Given the description of an element on the screen output the (x, y) to click on. 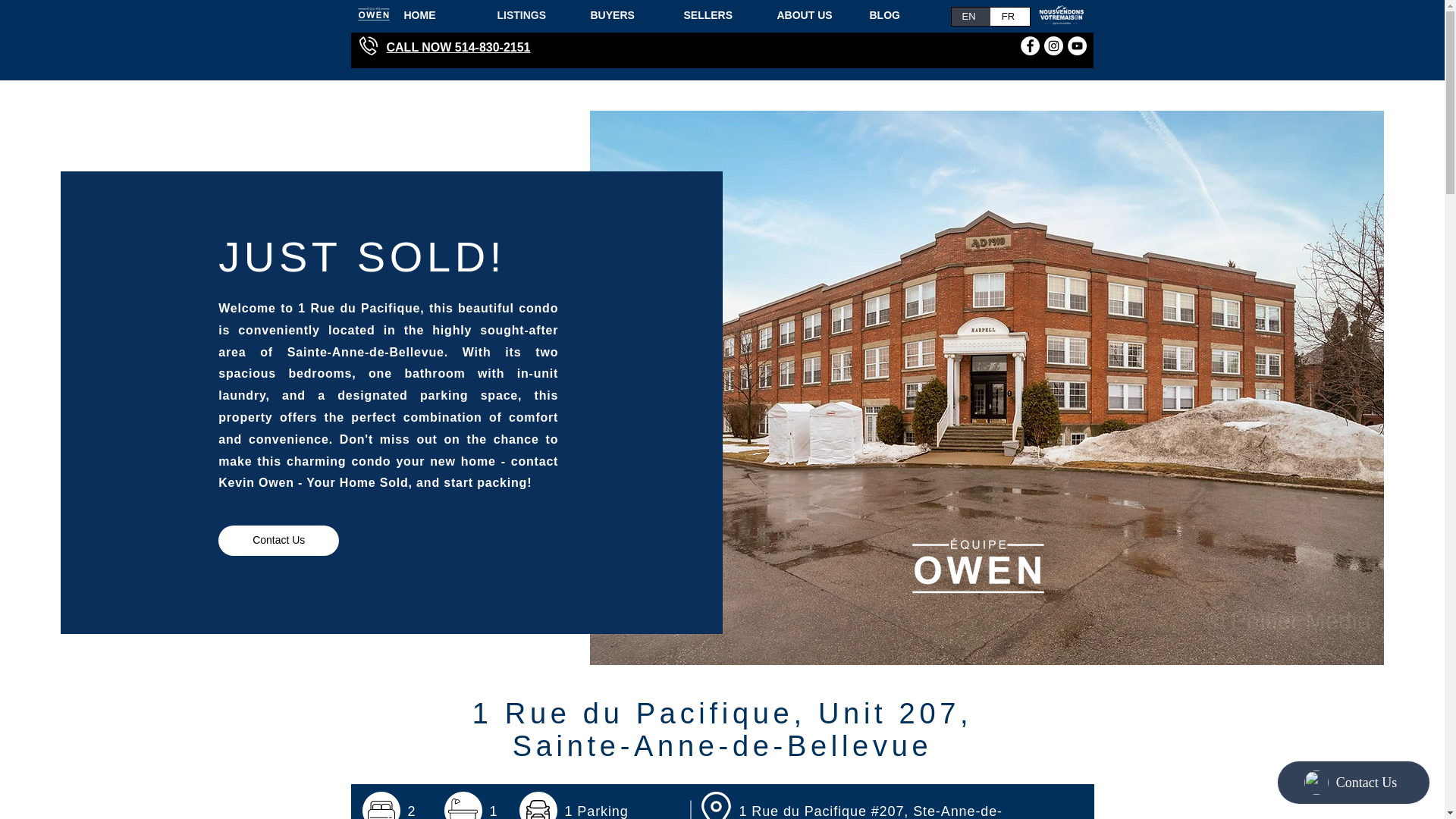
SELLERS (718, 15)
EN (970, 16)
HOME (439, 15)
LISTINGS (531, 15)
BUYERS (625, 15)
Contact Us (278, 540)
CALL NOW 514-830-2151 (459, 47)
BLOG (904, 15)
FR (1009, 16)
ABOUT US (812, 15)
